Given the description of an element on the screen output the (x, y) to click on. 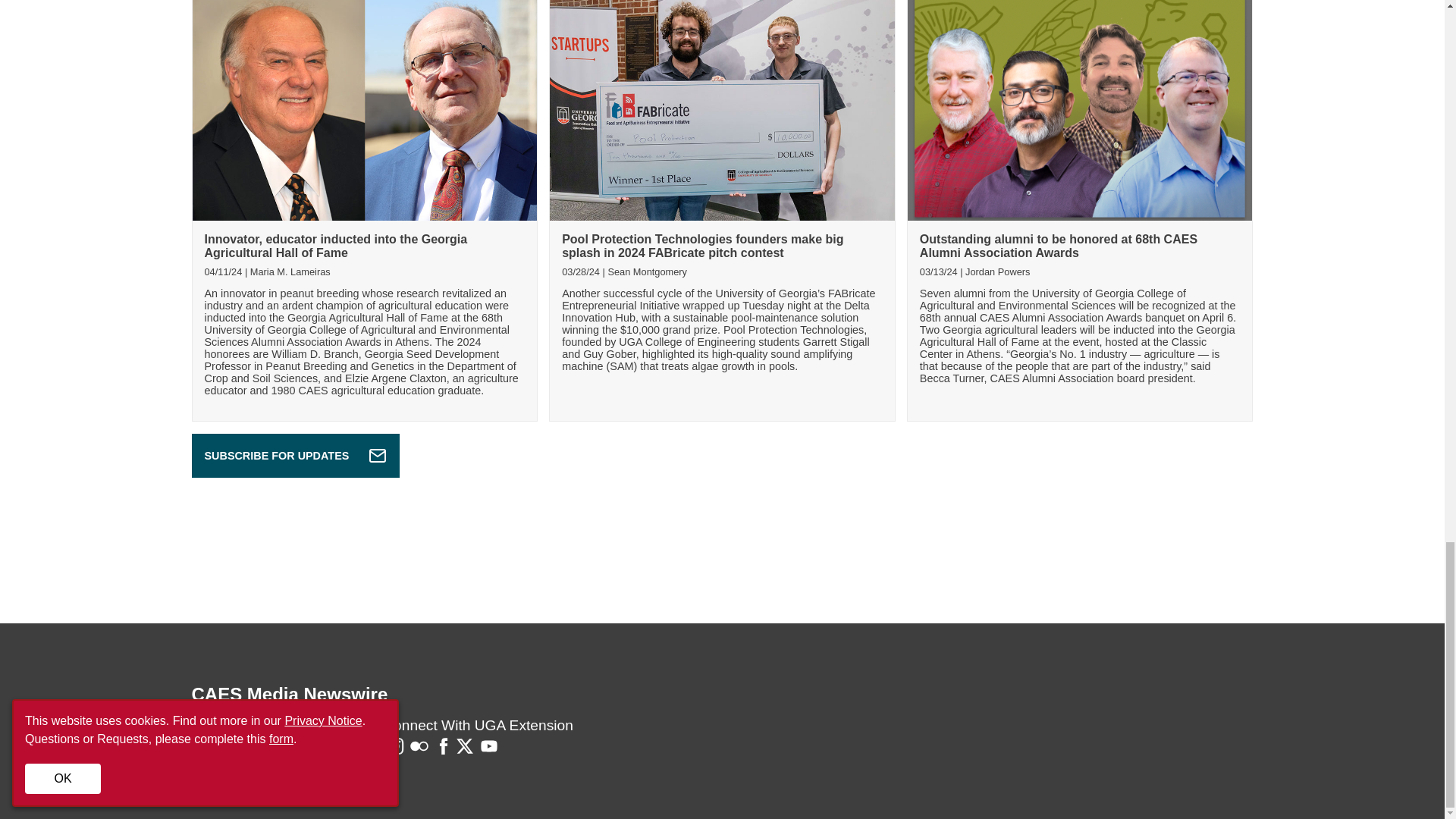
SUBSCRIBE FOR UPDATES (294, 455)
